Given the description of an element on the screen output the (x, y) to click on. 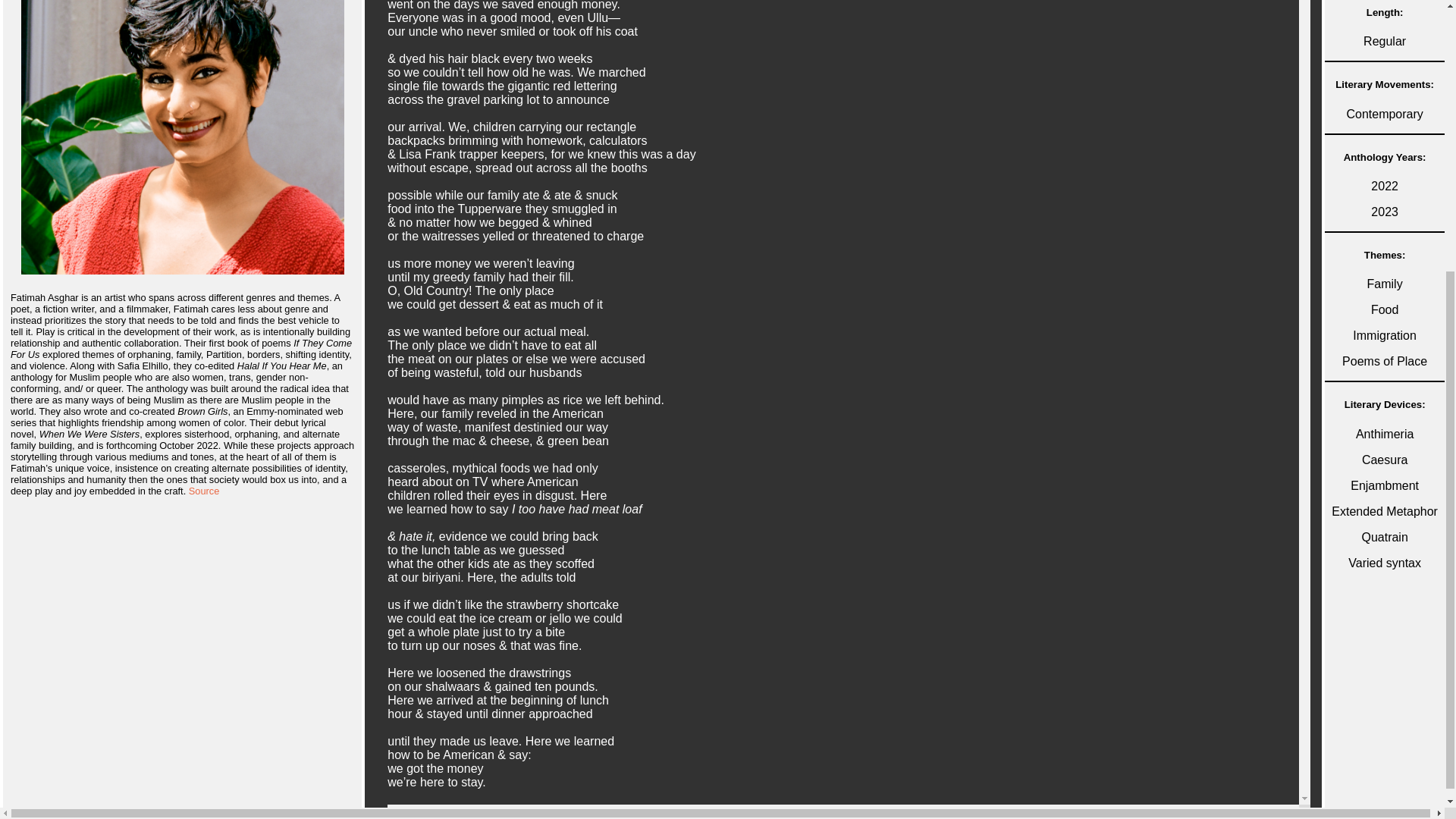
FATIMAH ASGHAR (181, 136)
Source (204, 490)
